Given the description of an element on the screen output the (x, y) to click on. 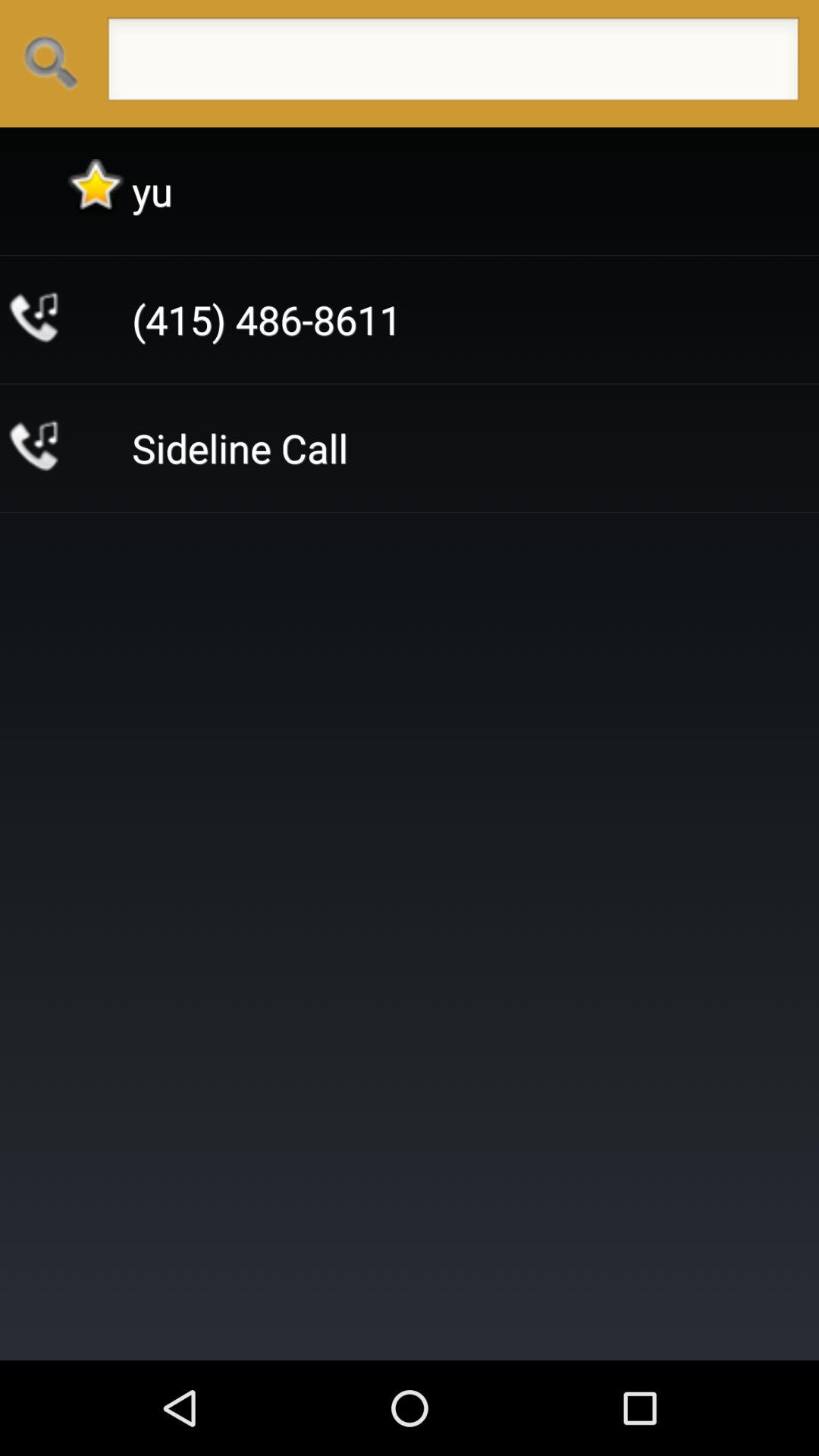
click the app to the left of yu (95, 190)
